Given the description of an element on the screen output the (x, y) to click on. 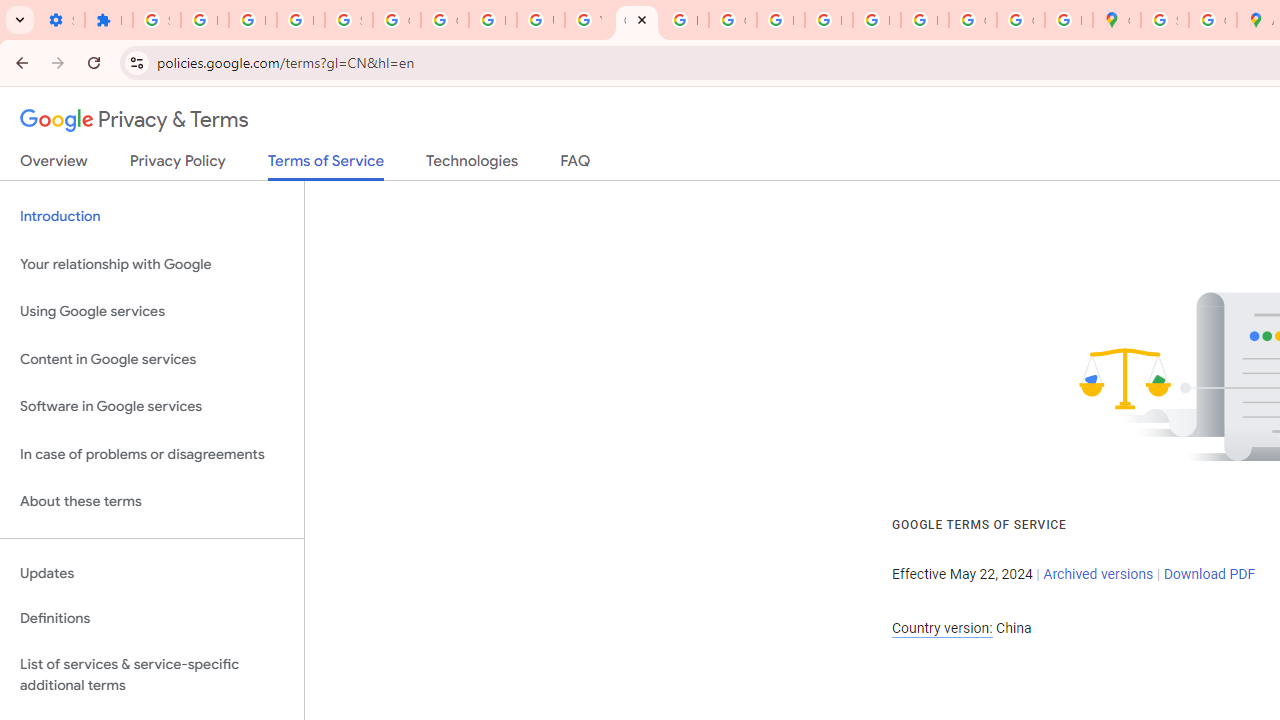
Learn how to find your photos - Google Photos Help (252, 20)
Country version: (942, 628)
Using Google services (152, 312)
